Given the description of an element on the screen output the (x, y) to click on. 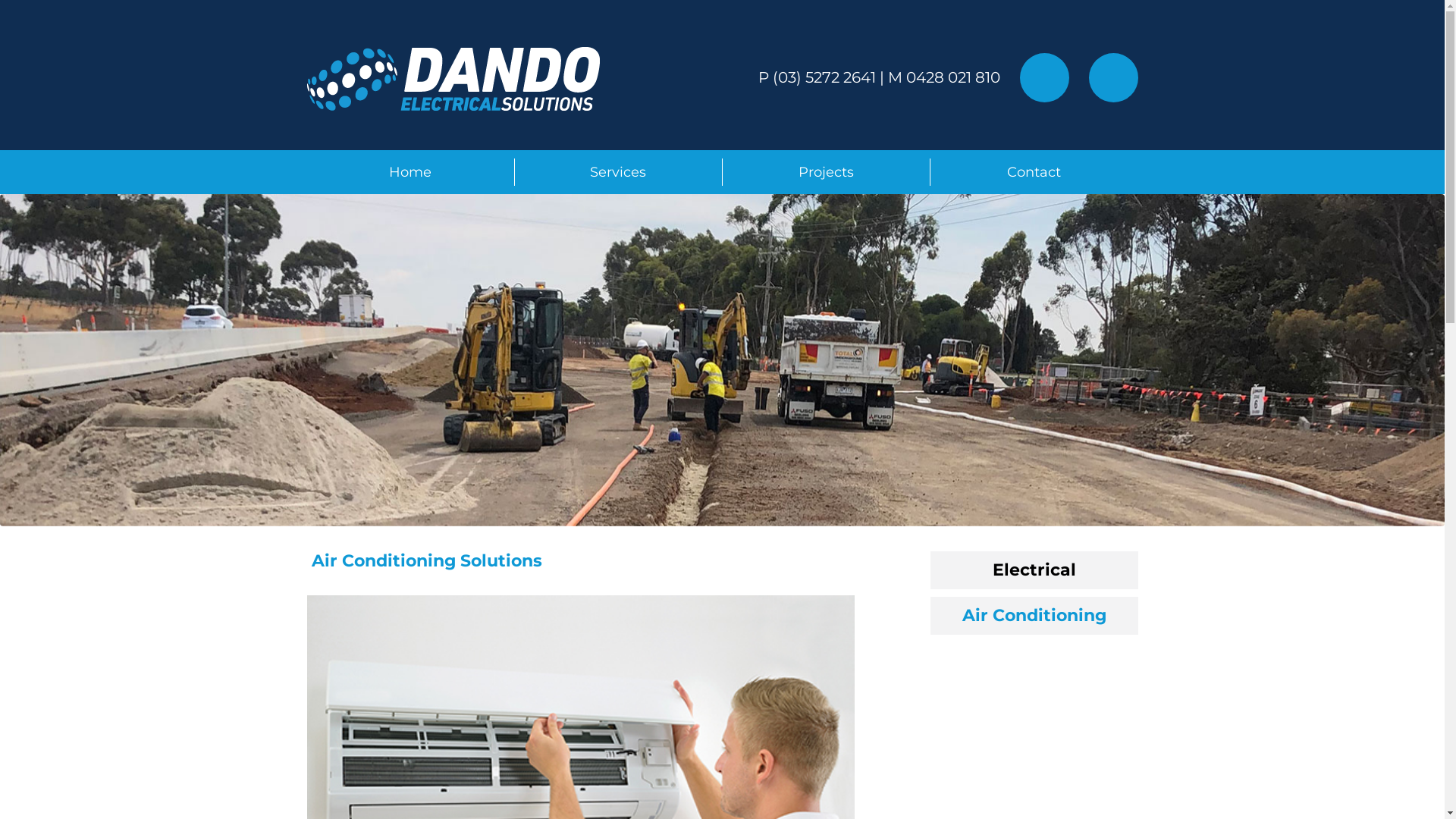
Contact Element type: text (1033, 171)
Air Conditioning Element type: text (1033, 615)
Services Element type: text (617, 171)
Electrical Element type: text (1033, 570)
Projects Element type: text (825, 171)
Home Element type: text (410, 171)
